Given the description of an element on the screen output the (x, y) to click on. 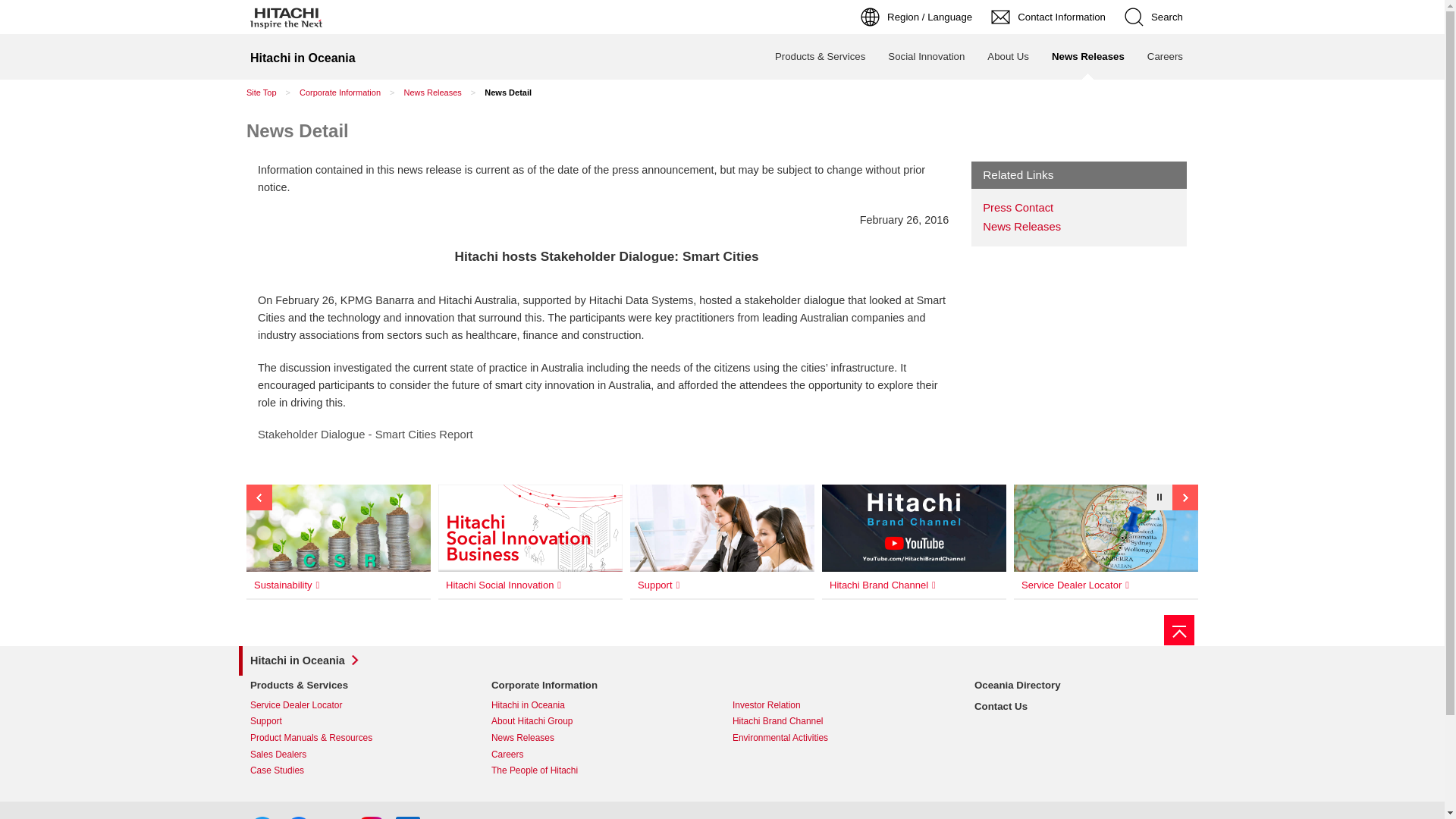
About Hitachi Group Element type: text (538, 720)
Stakeholder Dialogue - Smart Cities Report Element type: text (365, 434)
Next Element type: text (1185, 497)
Environmental Activities Element type: text (786, 737)
Careers Element type: text (1164, 56)
News Releases Element type: text (432, 92)
Corporate Information Element type: text (339, 92)
Hitachi in Oceania Element type: text (302, 56)
Investor Relation Element type: text (772, 704)
Service Dealer Locator Element type: text (302, 704)
Support Element type: text (733, 584)
Hitachi in Oceania Element type: text (305, 660)
Case Studies Element type: text (283, 770)
Site Top Element type: text (261, 92)
Press Contact Element type: text (1024, 207)
News Releases Element type: text (529, 737)
Next Element type: text (259, 497)
Sales Dealers Element type: text (284, 754)
Product Manuals & Resources Element type: text (317, 737)
Products & Services Element type: text (819, 56)
Service Dealer Locator Element type: text (1114, 584)
Contact Us Element type: text (1008, 706)
Careers Element type: text (513, 754)
Products & Services Element type: text (306, 684)
Corporate Information Element type: text (551, 684)
Hitachi Brand Channel Element type: text (923, 584)
Hitachi Brand Channel Element type: text (783, 720)
News Releases Element type: text (1087, 56)
Contact Information Element type: text (1050, 17)
News Releases Element type: text (1027, 226)
Pause Element type: text (1159, 497)
Oceania Directory Element type: text (1025, 684)
Search Element type: text (1155, 17)
Social Innovation Element type: text (925, 56)
Region / Language Element type: text (918, 17)
Hitachi in Oceania Element type: text (534, 704)
Support Element type: text (272, 720)
The People of Hitachi Element type: text (540, 770)
Hitachi Social Innovation Element type: text (542, 584)
About Us Element type: text (1007, 56)
Sustainability Element type: text (351, 584)
